Given the description of an element on the screen output the (x, y) to click on. 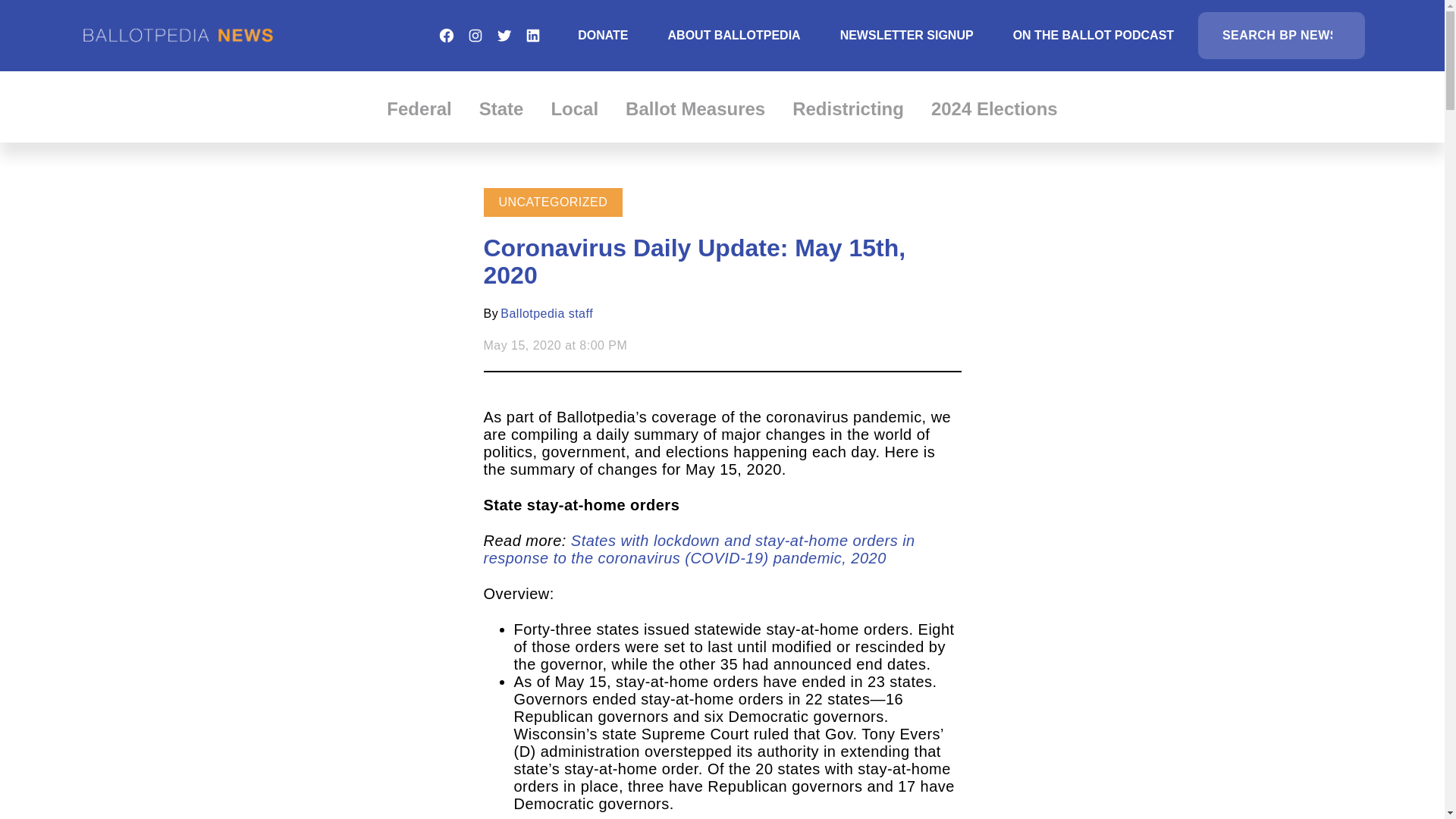
ABOUT BALLOTPEDIA (734, 35)
Facebook (446, 35)
Redistricting (848, 108)
Instagram (475, 35)
State (501, 108)
LinkedIn (532, 35)
Federal (419, 108)
ON THE BALLOT PODCAST (1093, 35)
NEWSLETTER SIGNUP (906, 35)
Ballot Measures (695, 108)
